Given the description of an element on the screen output the (x, y) to click on. 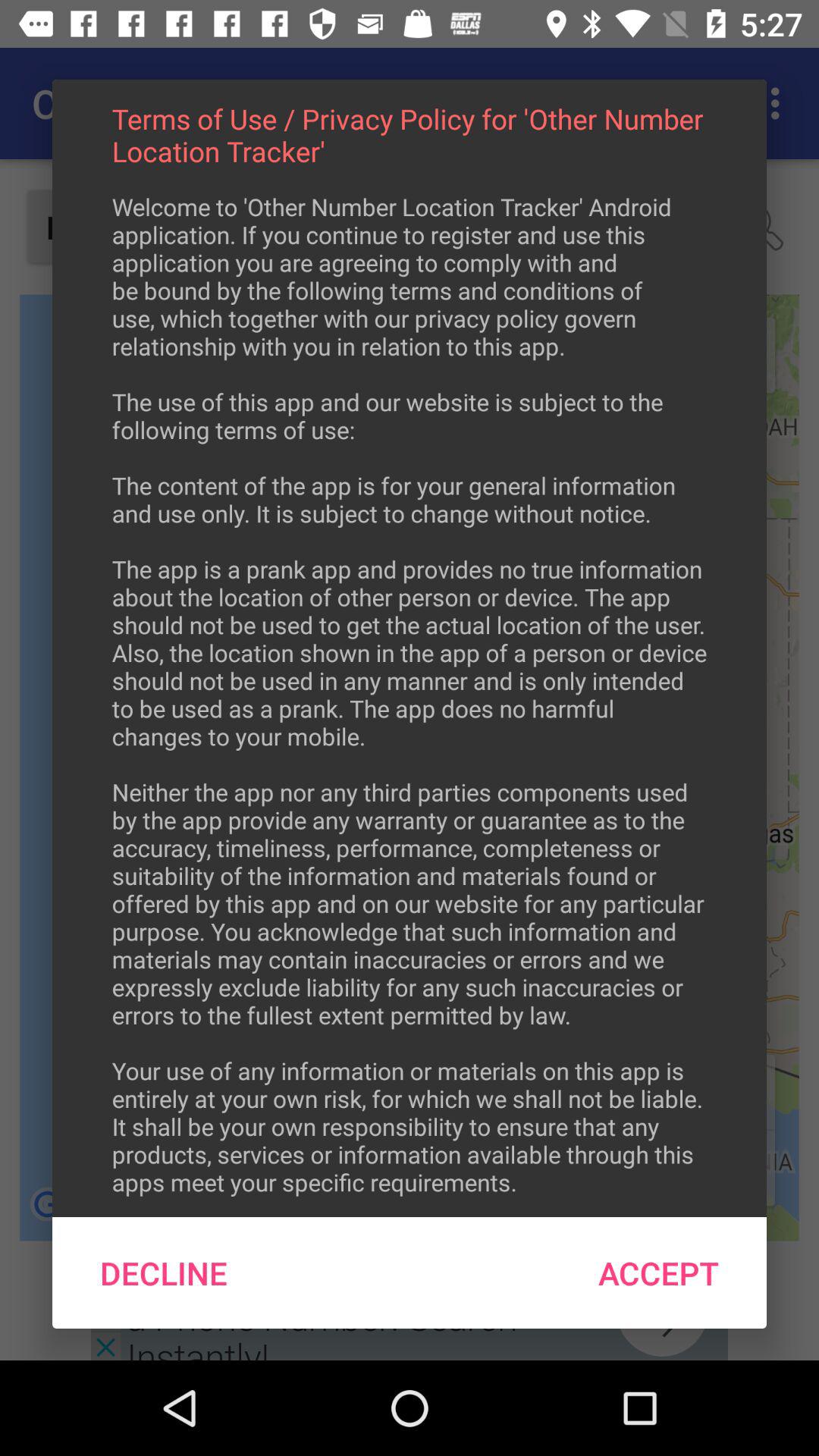
turn off accept (658, 1272)
